Given the description of an element on the screen output the (x, y) to click on. 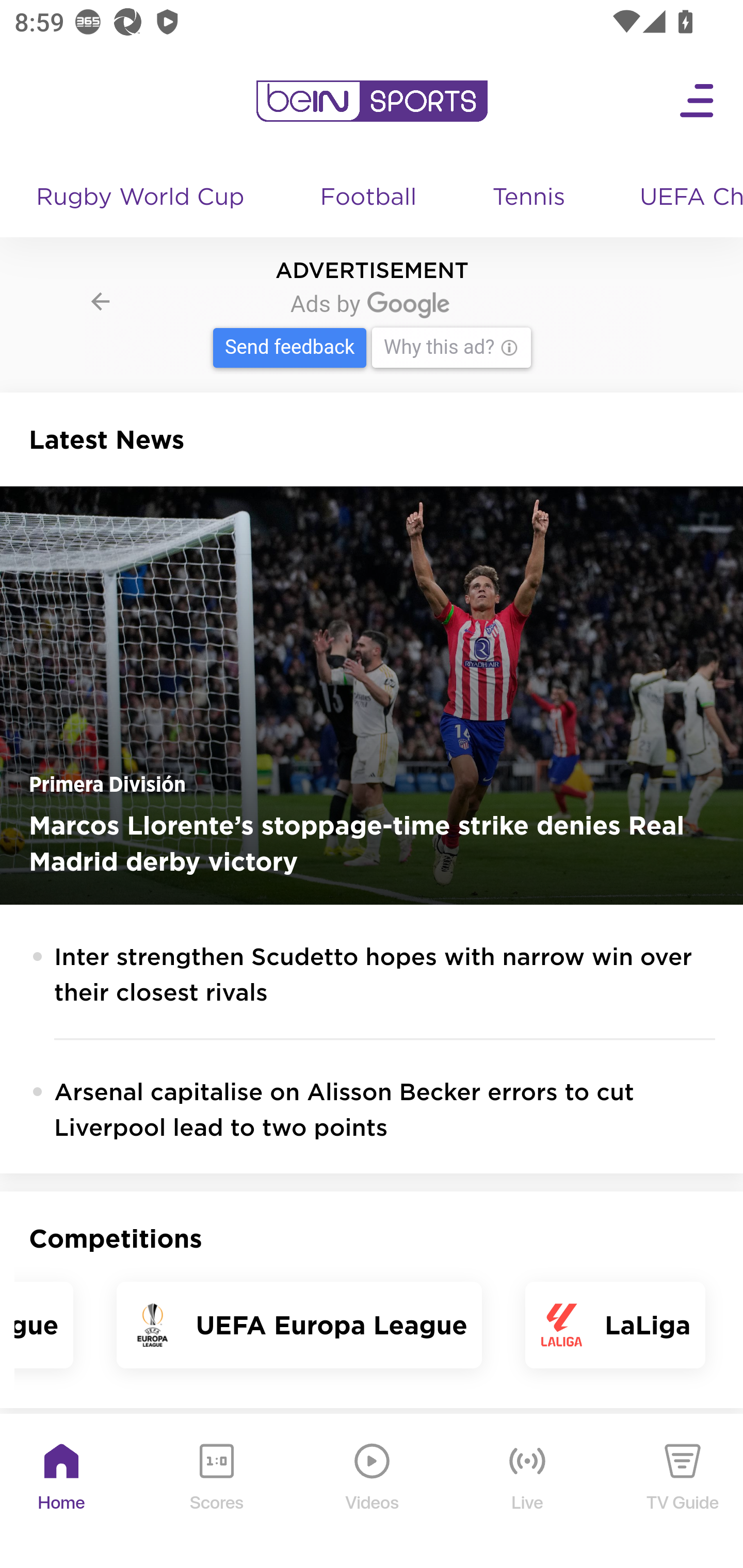
en-my?platform=mobile_android bein logo (371, 101)
Open Menu Icon (697, 101)
Rugby World Cup (142, 198)
Rugby World Cup (142, 198)
Football (369, 198)
Football (369, 198)
Tennis (530, 198)
Tennis (530, 198)
UEFA Champions League (683, 198)
l8psv8uu (372, 328)
LaLiga LaLiga LaLiga (614, 1324)
Home Home Icon Home (61, 1491)
Scores Scores Icon Scores (216, 1491)
Videos Videos Icon Videos (372, 1491)
TV Guide TV Guide Icon TV Guide (682, 1491)
